Given the description of an element on the screen output the (x, y) to click on. 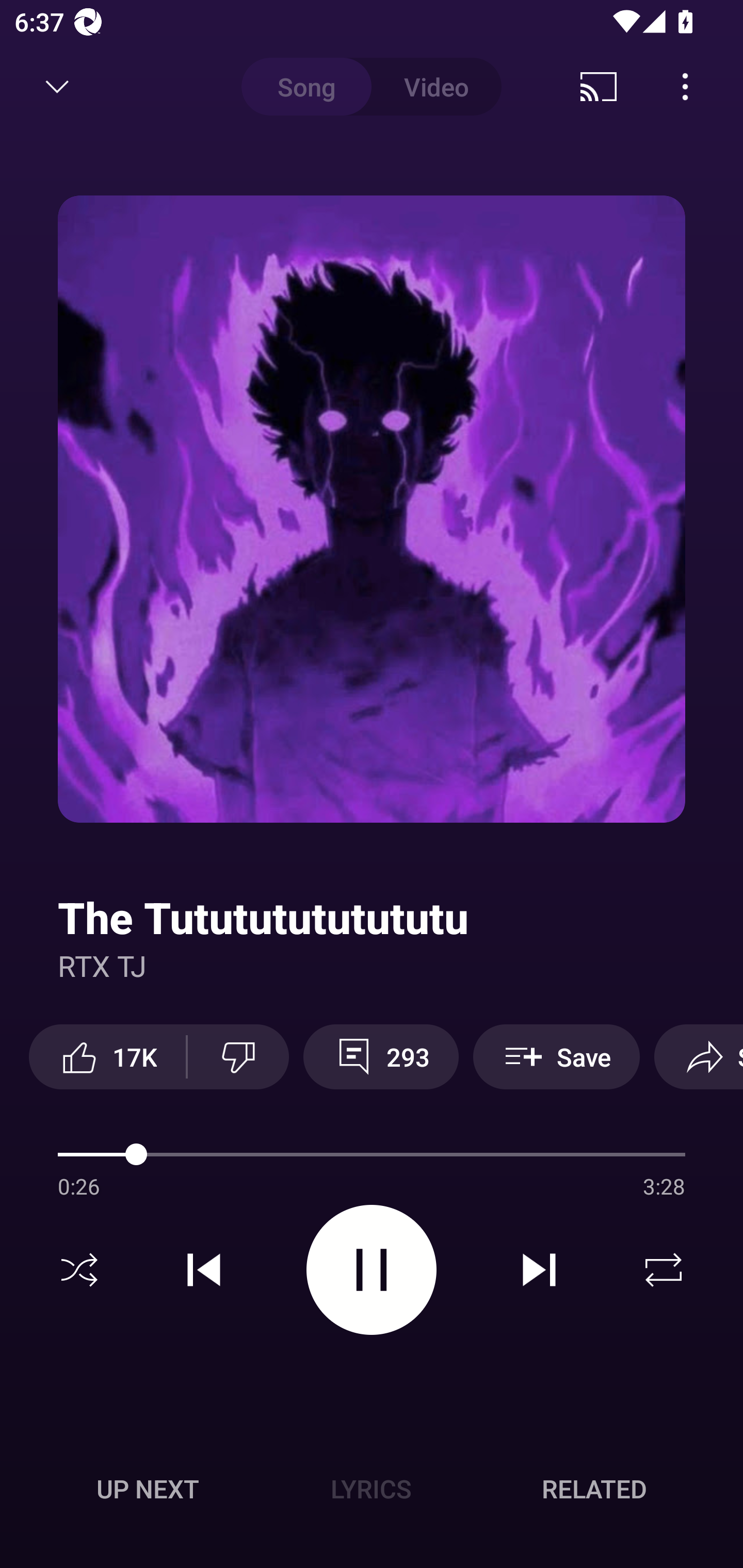
Minimize (57, 86)
Cast. Disconnected (598, 86)
Menu (684, 86)
17K like this video along with 17,364 other people (106, 1056)
Dislike (238, 1056)
293 View 293 comments (380, 1056)
Save Save to playlist (556, 1056)
Share (698, 1056)
Pause video (371, 1269)
Shuffle off (79, 1269)
Previous track (203, 1269)
Next track (538, 1269)
Repeat off (663, 1269)
Up next UP NEXT Lyrics LYRICS Related RELATED (371, 1491)
Lyrics LYRICS (370, 1488)
Related RELATED (594, 1488)
